Given the description of an element on the screen output the (x, y) to click on. 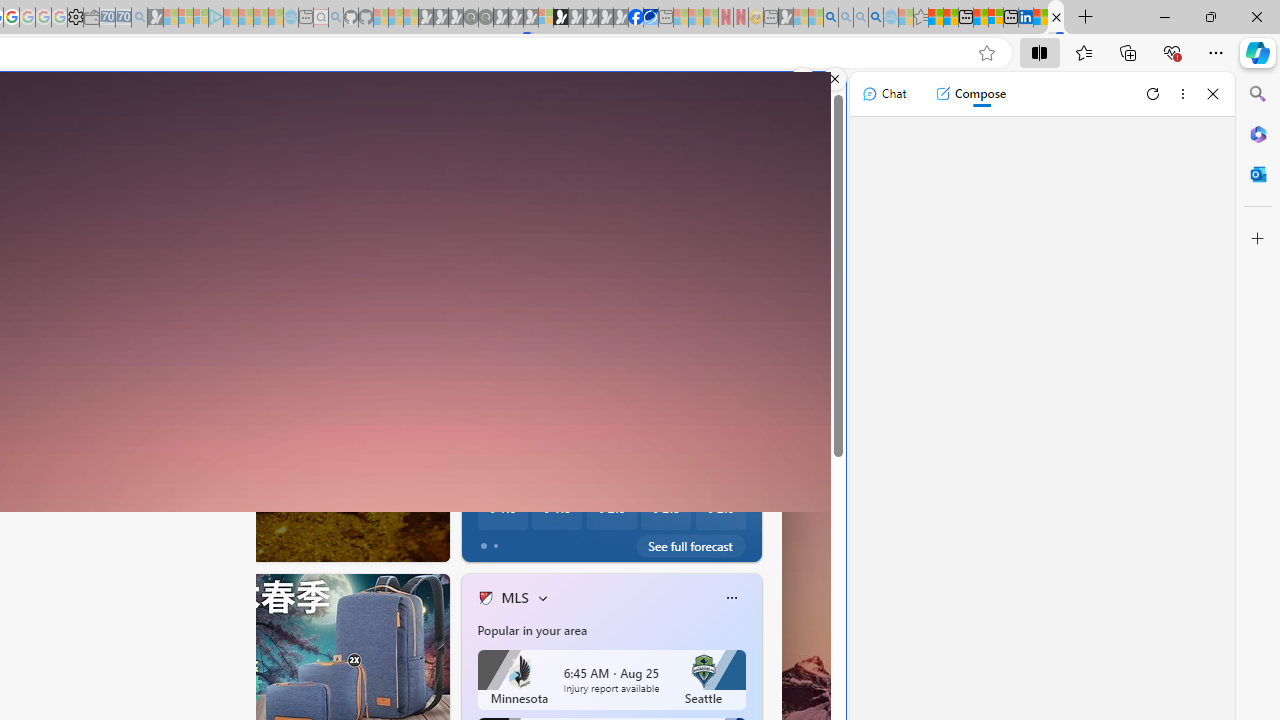
View comments 543 Comment (579, 541)
